Given the description of an element on the screen output the (x, y) to click on. 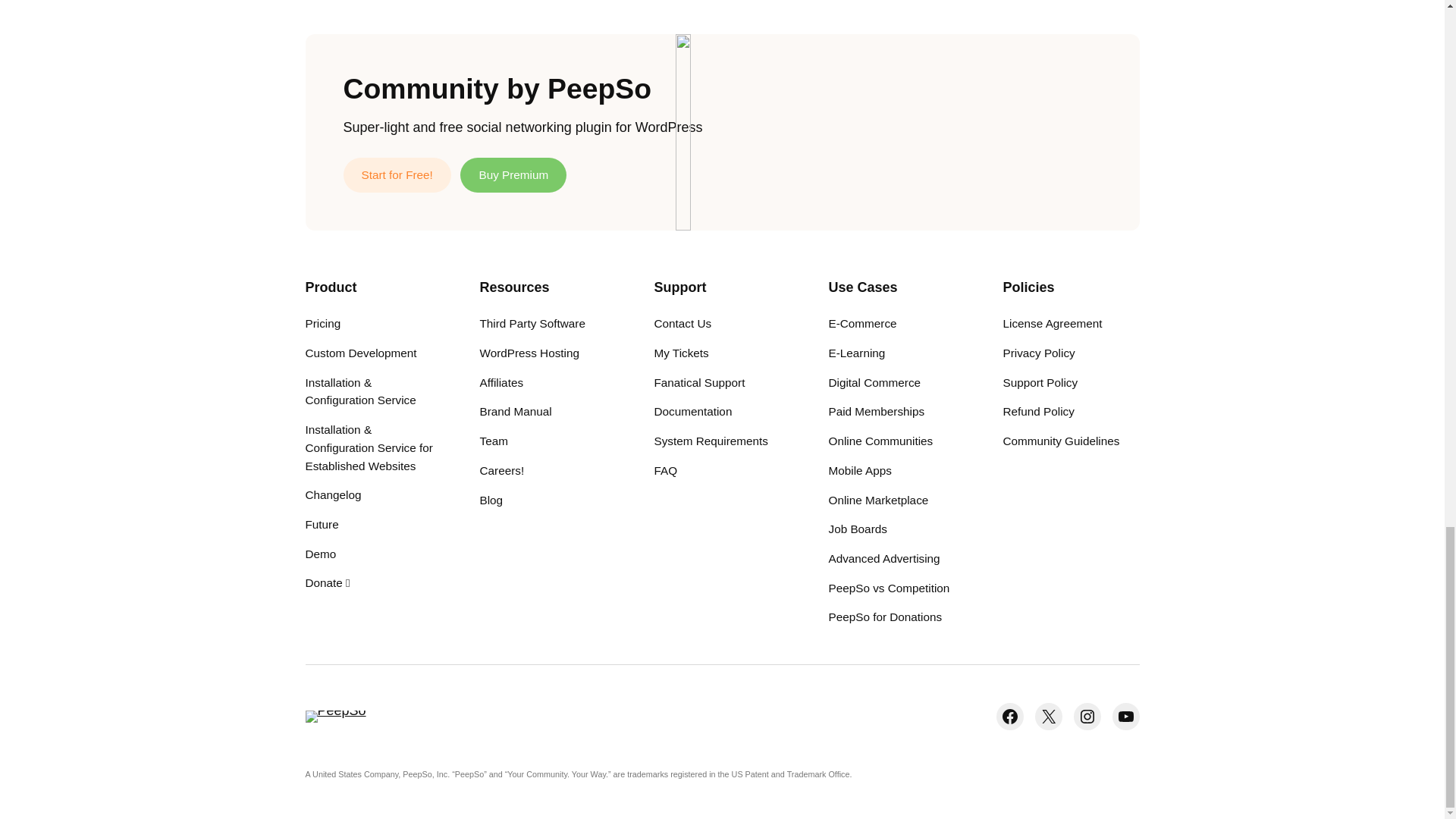
Future (320, 524)
Custom Development (360, 352)
Pricing (322, 323)
Start for Free! (395, 175)
Buy Premium (513, 175)
Changelog (332, 495)
